Given the description of an element on the screen output the (x, y) to click on. 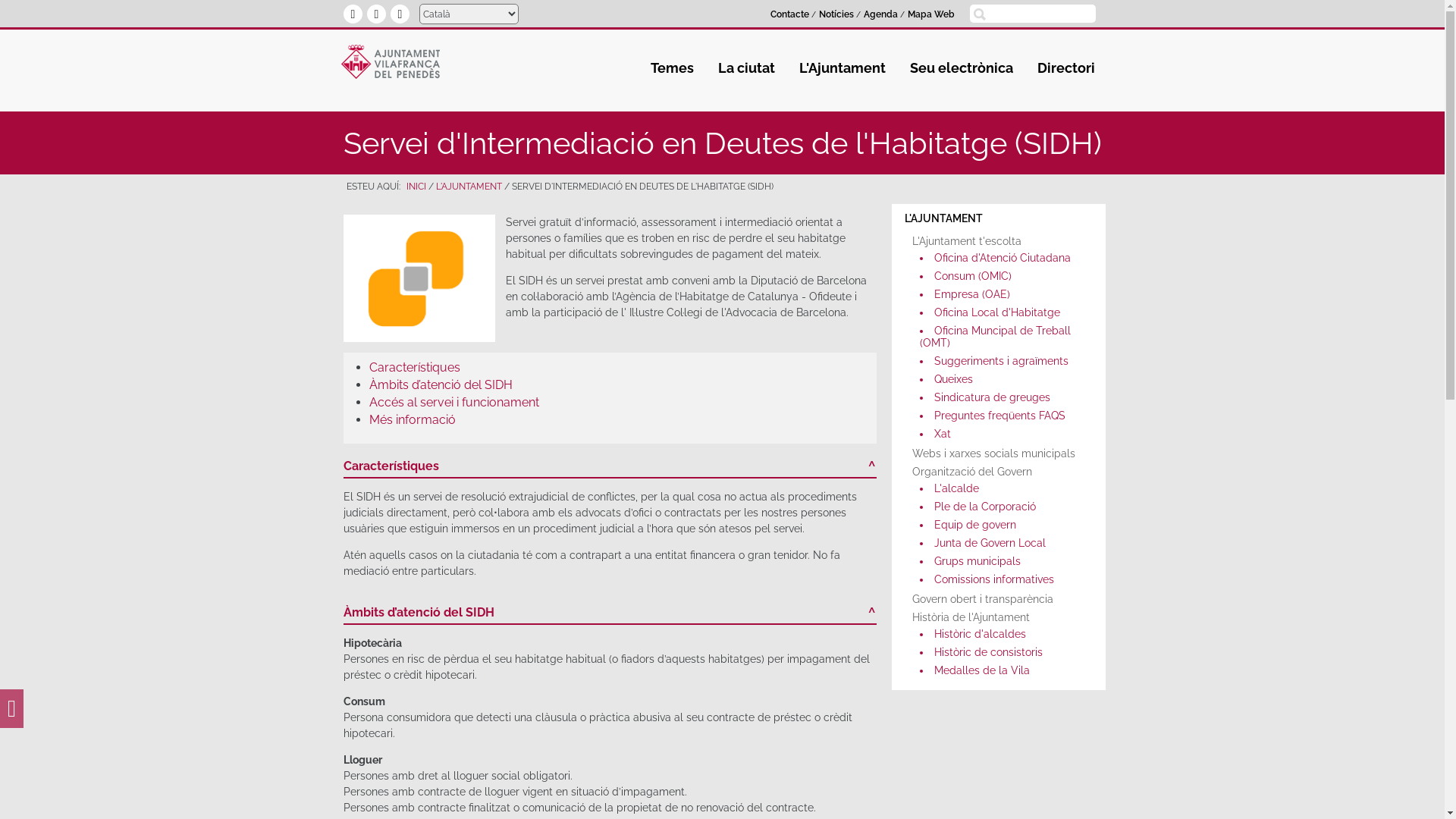
INICI Element type: text (416, 186)
Directori Element type: text (1065, 68)
Medalles de la Vila Element type: text (1002, 669)
Webs i xarxes socials municipals Element type: text (998, 453)
Oficina Local d'Habitatge Element type: text (1002, 312)
Oficina Muncipal de Treball (OMT) Element type: text (1002, 336)
Empresa (OAE) Element type: text (1002, 293)
Contacte Element type: text (789, 14)
L'Ajuntament t'escolta Element type: text (998, 240)
Junta de Govern Local Element type: text (1002, 542)
Equip de govern Element type: text (1002, 524)
L'AJUNTAMENT Element type: text (998, 218)
Queixes Element type: text (1002, 378)
Accessibilitat Element type: hover (11, 712)
Grups municipals Element type: text (1002, 560)
Xat Element type: text (1002, 433)
L'alcalde Element type: text (1002, 487)
Mapa Web Element type: text (930, 14)
Consum (OMIC) Element type: text (1002, 275)
L'AJUNTAMENT Element type: text (468, 186)
L'Ajuntament Element type: text (846, 68)
Comissions informatives Element type: text (1002, 578)
Sindicatura de greuges Element type: text (1002, 396)
La ciutat Element type: text (750, 68)
Temes Element type: text (675, 68)
Cerca al web Element type: hover (978, 13)
Agenda Element type: text (880, 14)
Inici Element type: hover (390, 62)
